Given the description of an element on the screen output the (x, y) to click on. 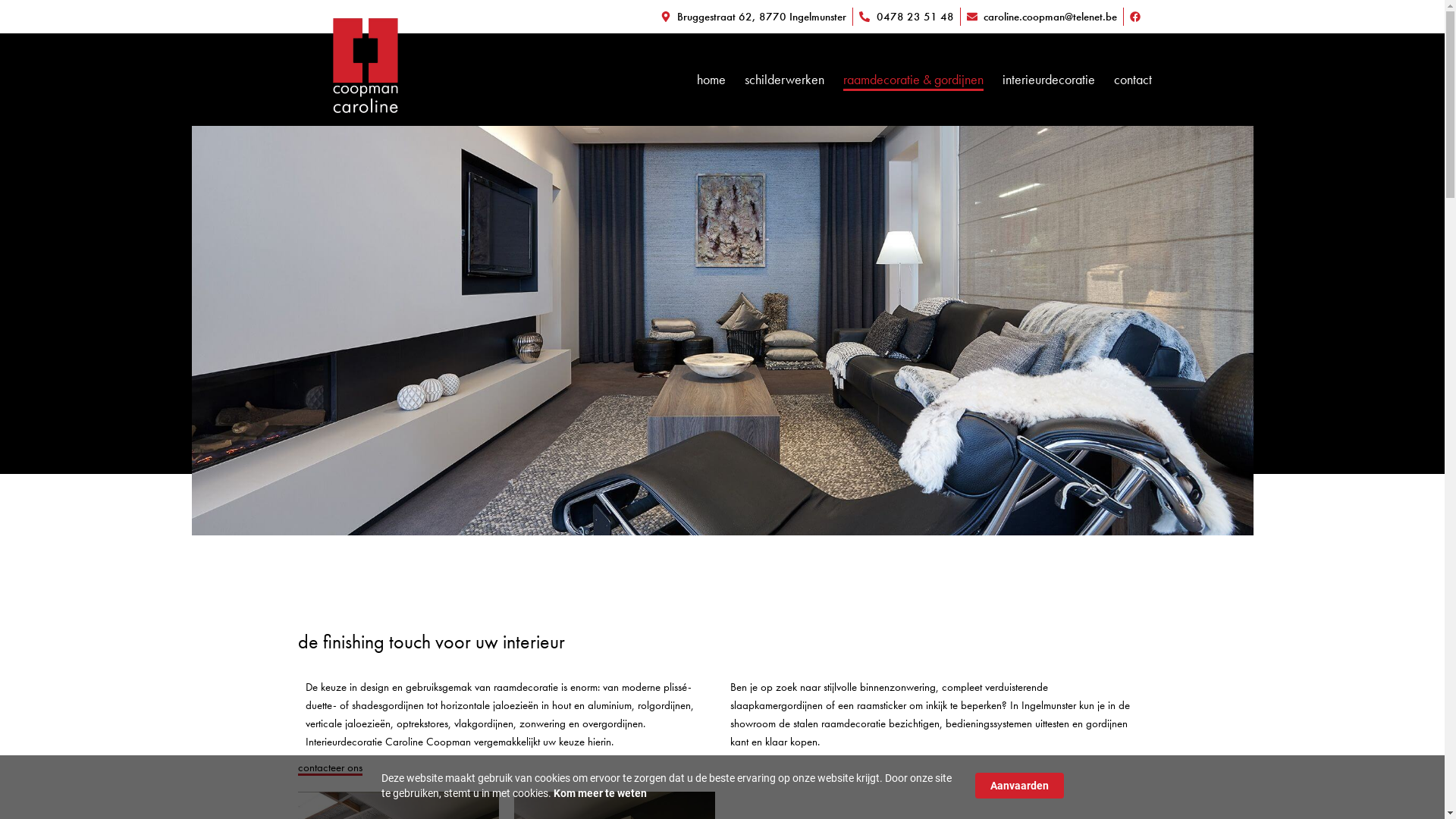
0478 23 51 48 Element type: text (906, 16)
interieurdecoratie Element type: text (1048, 79)
raamdecoratie & gordijnen Element type: text (913, 79)
schilderwerken Element type: text (784, 79)
contact Element type: text (1132, 79)
contacteer ons Element type: text (329, 768)
Kom meer te weten Element type: text (599, 792)
home Element type: text (710, 79)
caroline.coopman@telenet.be Element type: text (1041, 16)
